Given the description of an element on the screen output the (x, y) to click on. 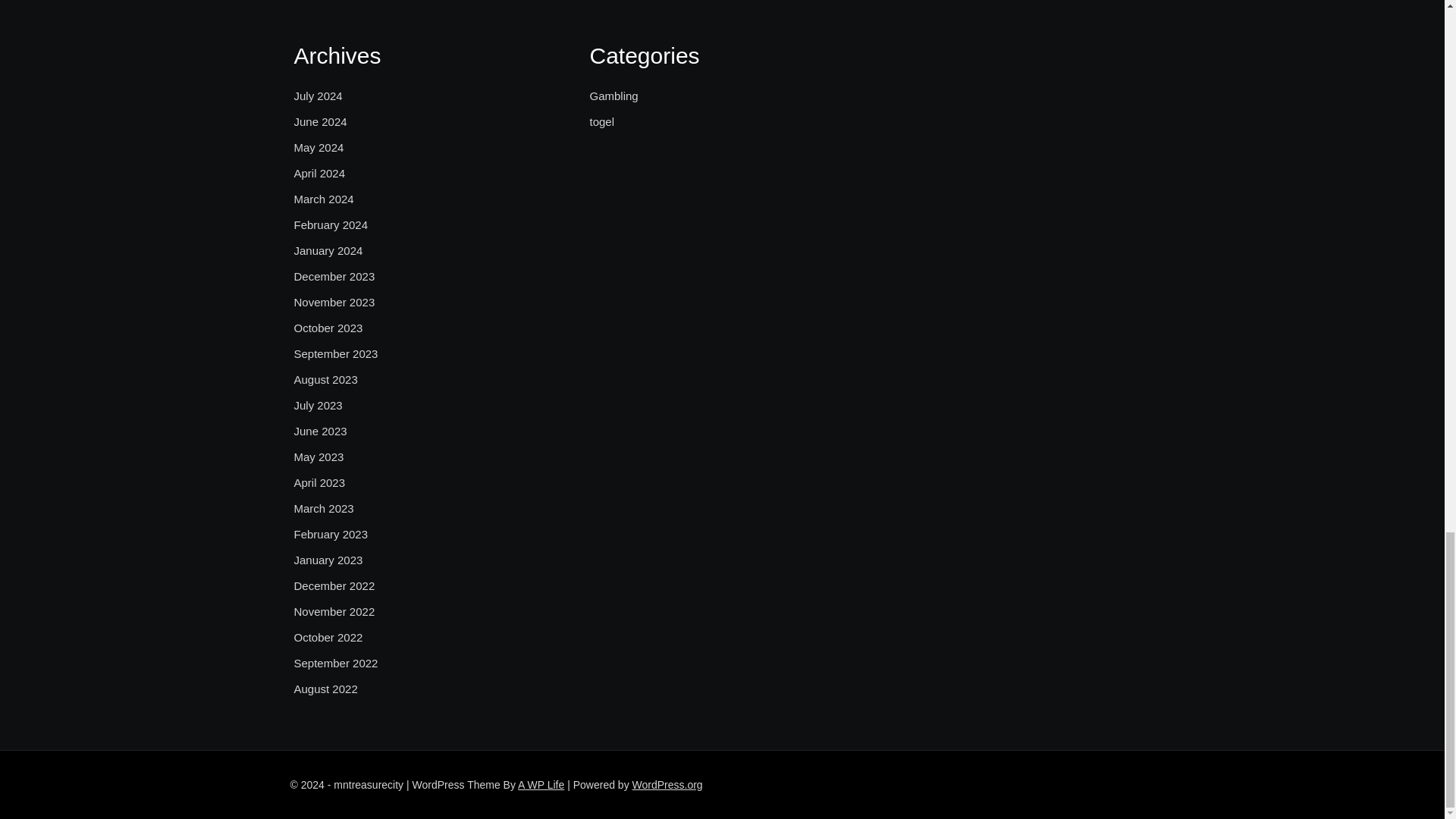
July 2024 (318, 95)
January 2023 (328, 560)
November 2022 (334, 611)
March 2023 (323, 508)
May 2024 (318, 147)
April 2023 (320, 483)
October 2023 (328, 328)
February 2023 (331, 534)
December 2022 (334, 586)
June 2024 (320, 122)
February 2024 (331, 225)
June 2023 (320, 431)
May 2023 (318, 456)
November 2023 (334, 302)
August 2023 (326, 380)
